Given the description of an element on the screen output the (x, y) to click on. 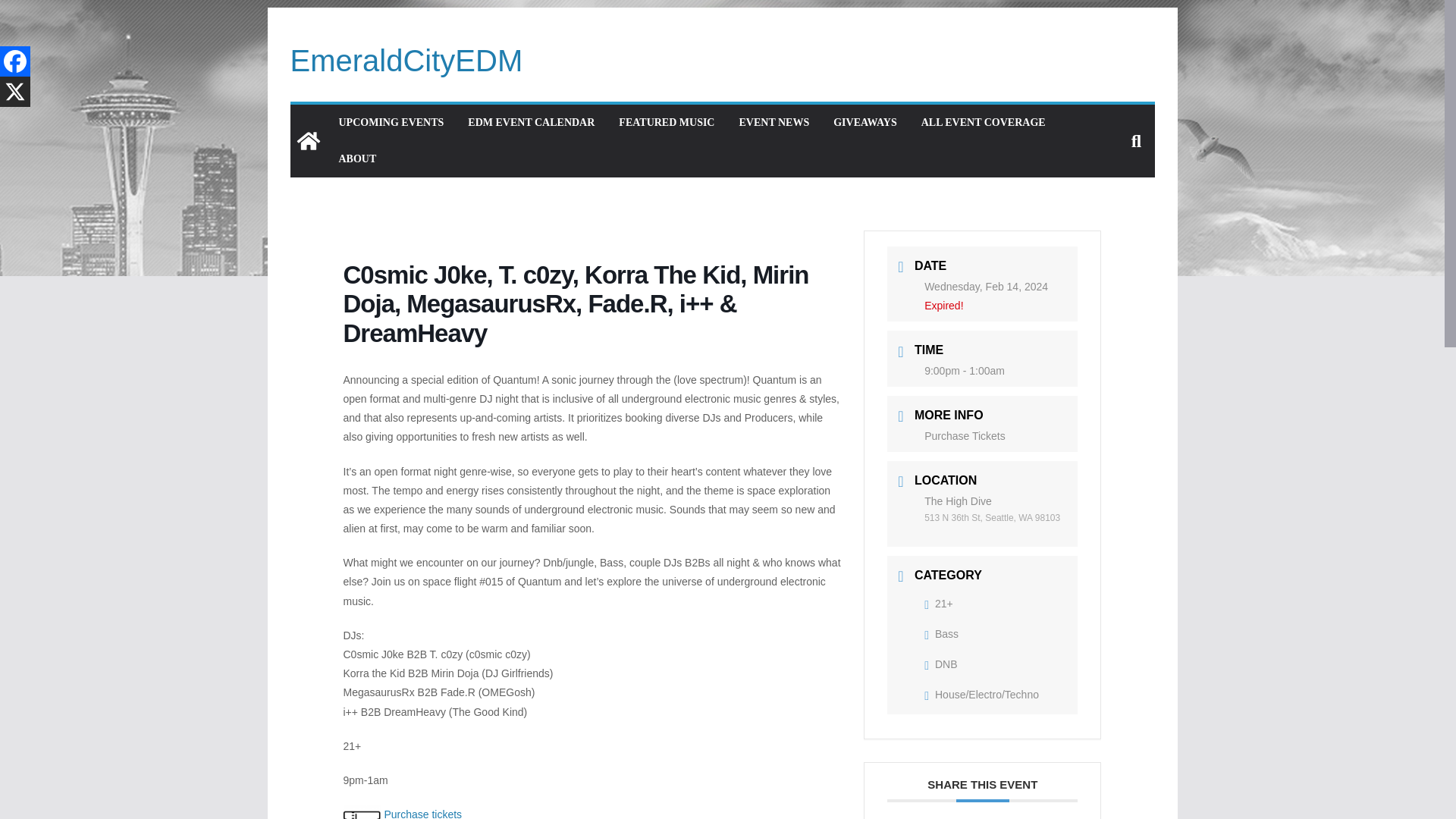
X (15, 91)
UPCOMING EVENTS (390, 122)
Purchase Tickets (965, 435)
Bass (941, 633)
Purchase tickets (422, 813)
EmeraldCityEDM (405, 60)
Facebook (15, 60)
EVENT NEWS (773, 122)
EDM EVENT CALENDAR (530, 122)
